Given the description of an element on the screen output the (x, y) to click on. 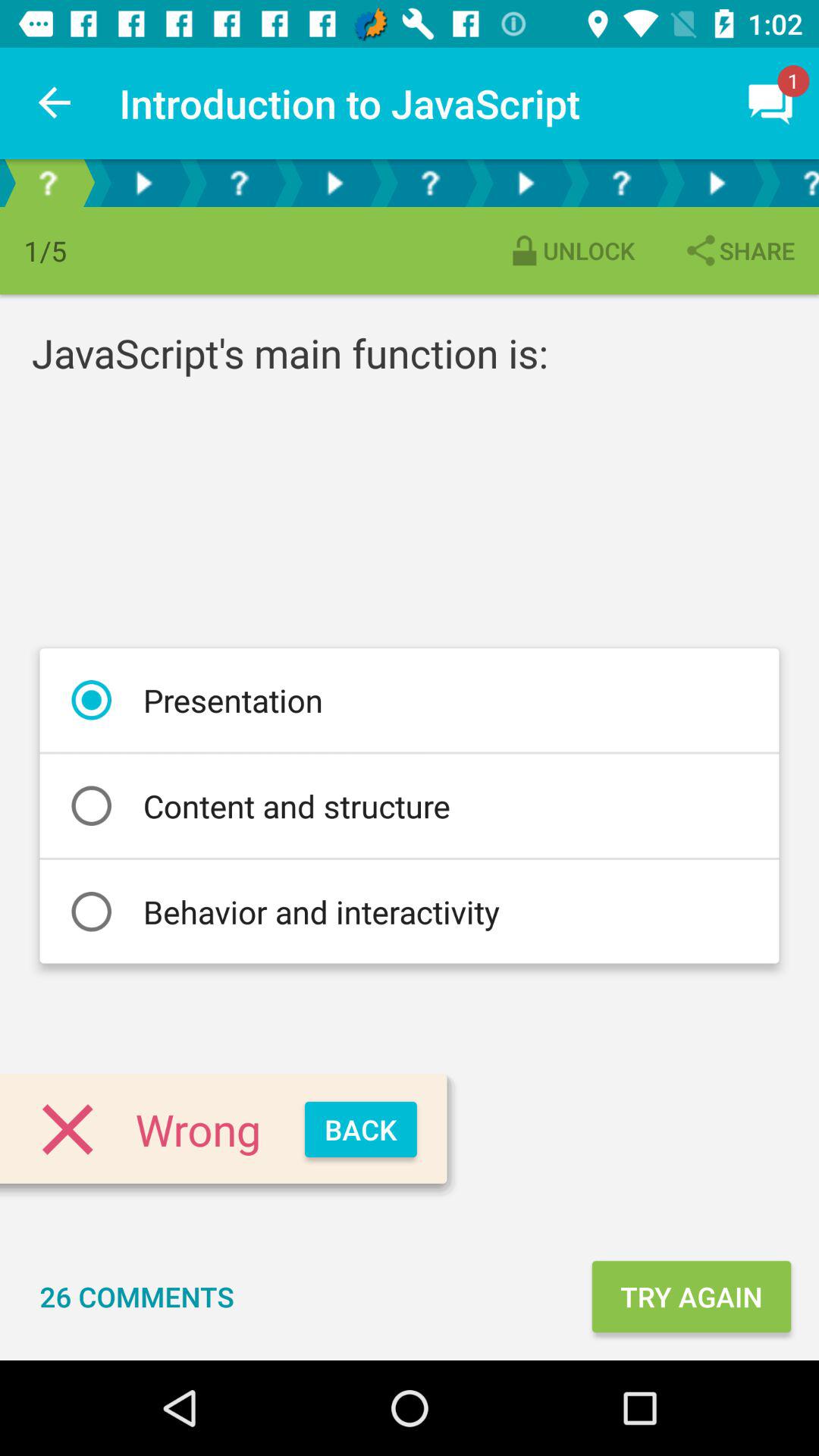
go to next selection (525, 183)
